Given the description of an element on the screen output the (x, y) to click on. 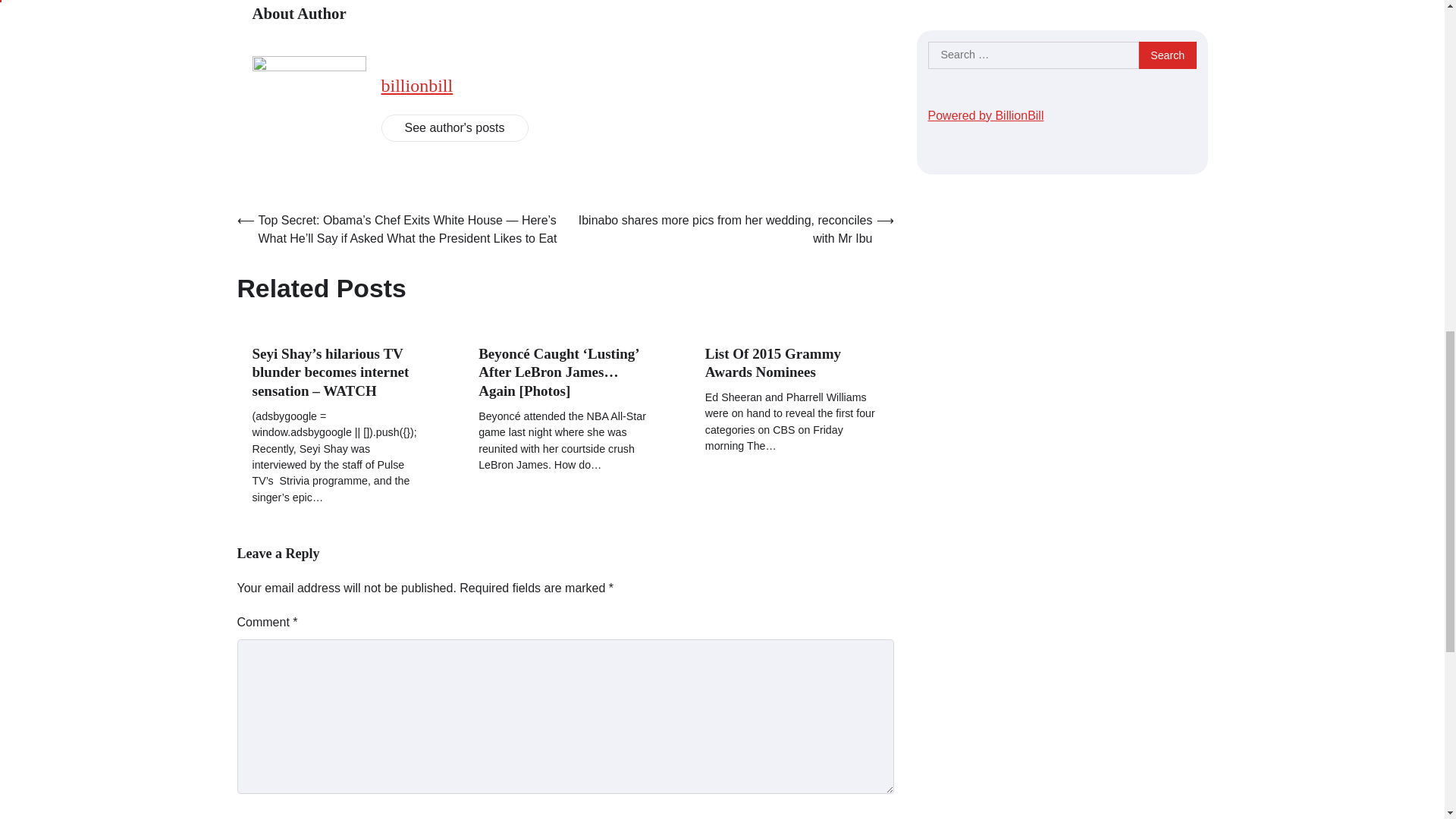
See author's posts (453, 127)
billionbill (416, 85)
List Of 2015 Grammy Awards Nominees (772, 362)
